Given the description of an element on the screen output the (x, y) to click on. 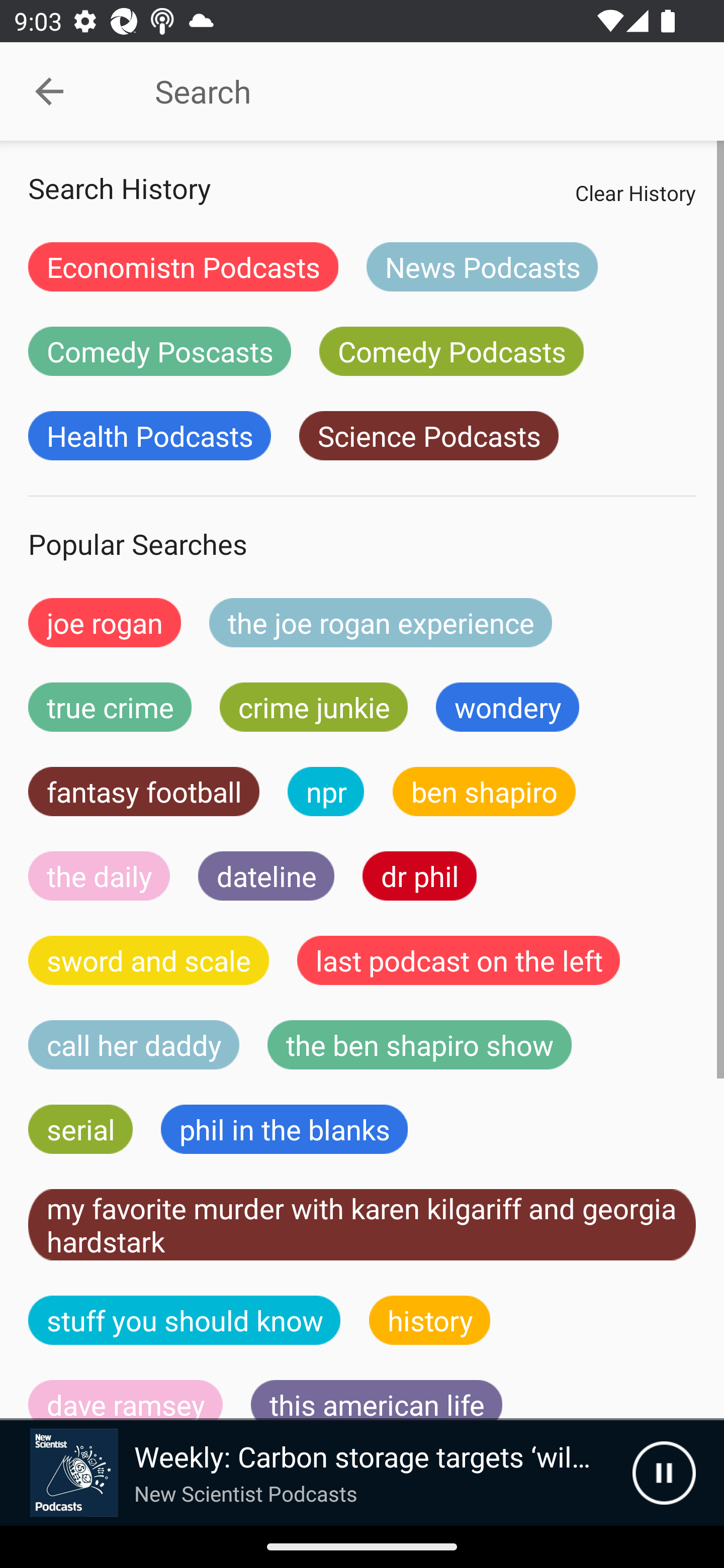
Collapse (49, 91)
Search (407, 91)
Clear History (634, 192)
Economistn Podcasts (183, 266)
News Podcasts (482, 266)
Comedy Poscasts (159, 351)
Comedy Podcasts (451, 351)
Health Podcasts (149, 435)
Science Podcasts (428, 435)
joe rogan (104, 622)
the joe rogan experience (380, 622)
true crime (109, 707)
crime junkie (313, 707)
wondery (507, 707)
fantasy football (143, 791)
npr (325, 791)
ben shapiro (483, 791)
the daily (99, 875)
dateline (266, 875)
dr phil (419, 875)
sword and scale (148, 960)
last podcast on the left (458, 960)
call her daddy (133, 1044)
the ben shapiro show (419, 1044)
serial (80, 1128)
phil in the blanks (283, 1128)
stuff you should know (184, 1320)
history (429, 1320)
dave ramsey (125, 1399)
this american life (376, 1399)
Pause (663, 1472)
